Given the description of an element on the screen output the (x, y) to click on. 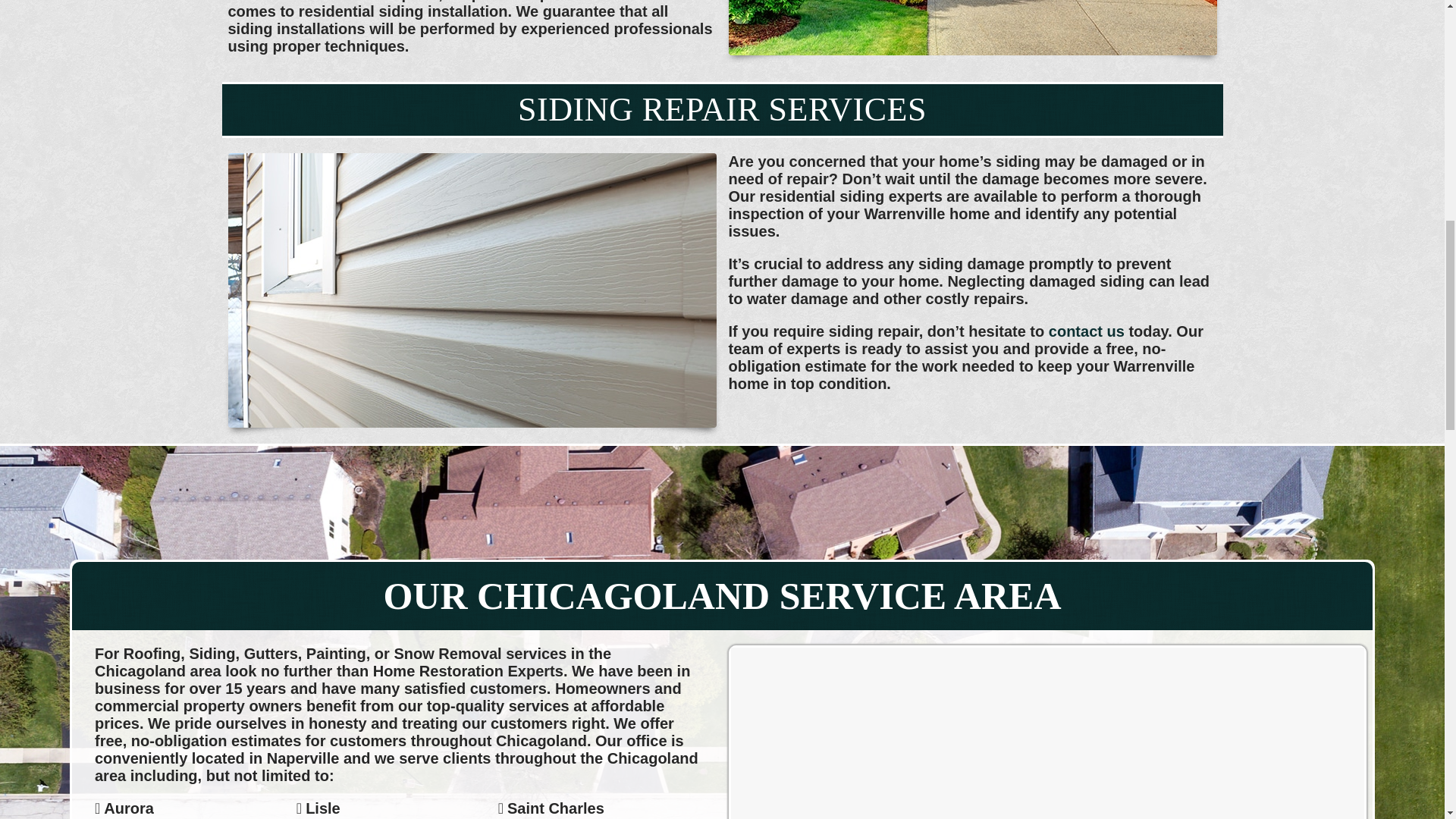
Home Restoration Experts Residential Siding Installation (971, 27)
contact us (1086, 330)
